Given the description of an element on the screen output the (x, y) to click on. 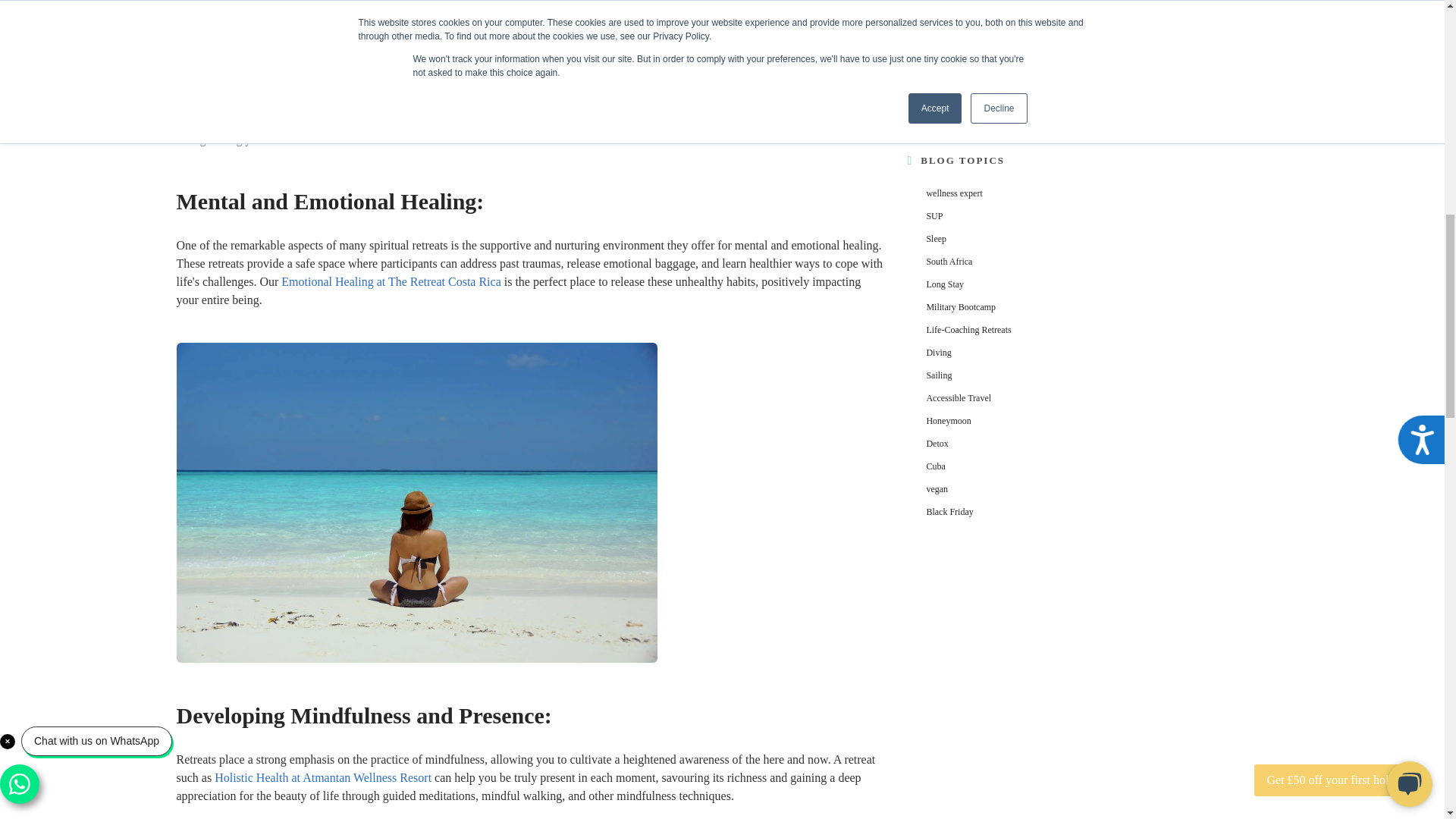
The Top 10 Affordable Wellness Retreats in Europe (1063, 57)
How to activate turmeric for maximum benefit blog (1050, 89)
What sport suits your body type blog (1019, 105)
10 of the Most Effective and Intensive Detox Retreats (1069, 73)
